Given the description of an element on the screen output the (x, y) to click on. 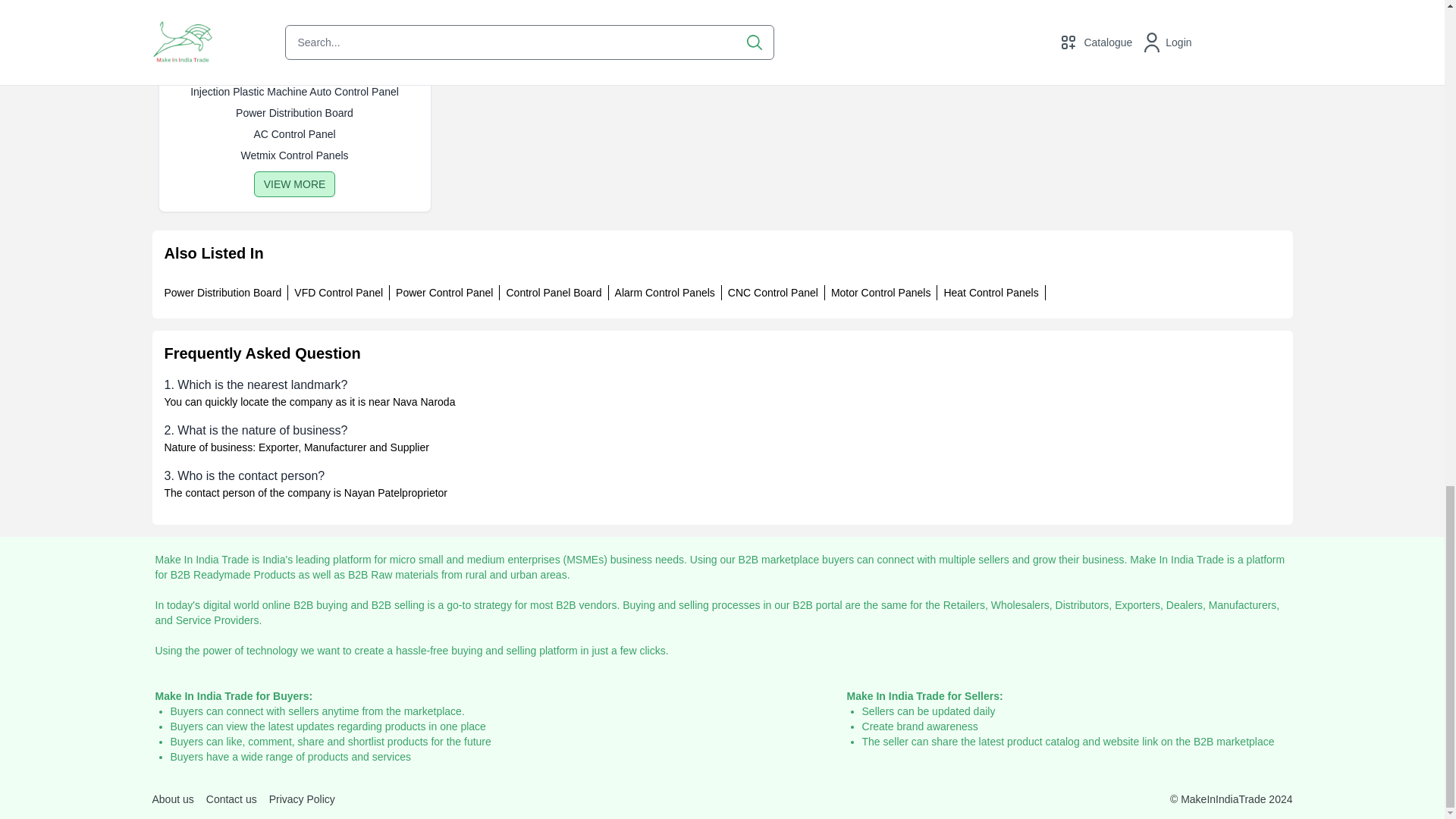
Wetmix Control Panels (294, 155)
About us (172, 799)
Alarm Control Panels (664, 292)
Control Panel Board (553, 292)
Injection Plastic Machine Auto Control Panel (294, 91)
Power Distribution Board (222, 292)
Contact us (231, 799)
VFD Control Panel (338, 292)
Control Panel Boards (294, 63)
CNC Control Panel (773, 292)
Power Distribution Board (294, 112)
VIEW MORE (294, 184)
Motor Control Panels (881, 292)
Privacy Policy (301, 799)
AC Control Panel (294, 133)
